Given the description of an element on the screen output the (x, y) to click on. 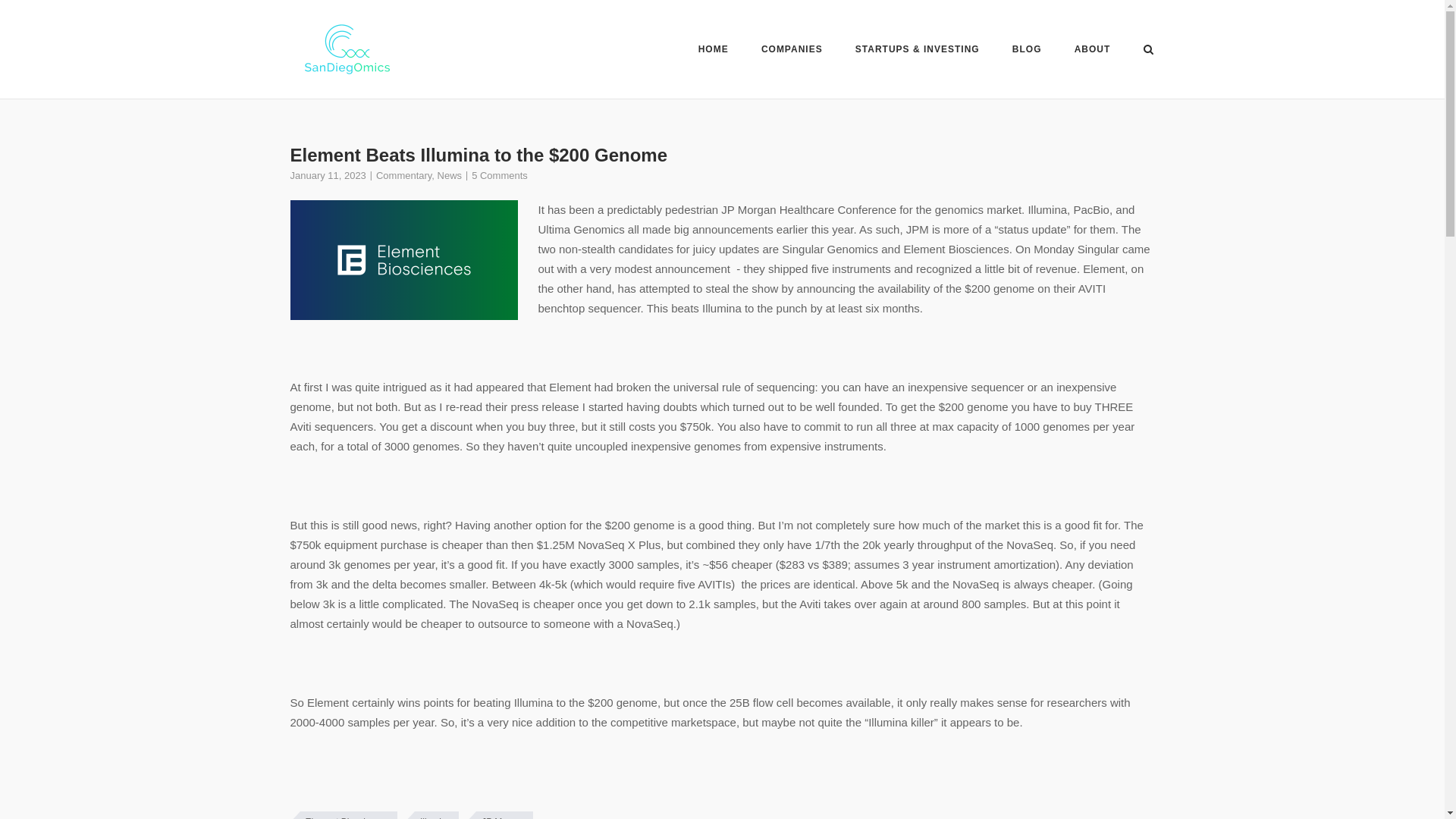
COMPANIES (791, 51)
HOME (713, 51)
JP Morgan (498, 815)
Element Biosciences (342, 815)
News (449, 174)
5 Comments (499, 174)
Commentary (402, 174)
ABOUT (1092, 51)
BLOG (1026, 51)
Illumina (431, 815)
